Given the description of an element on the screen output the (x, y) to click on. 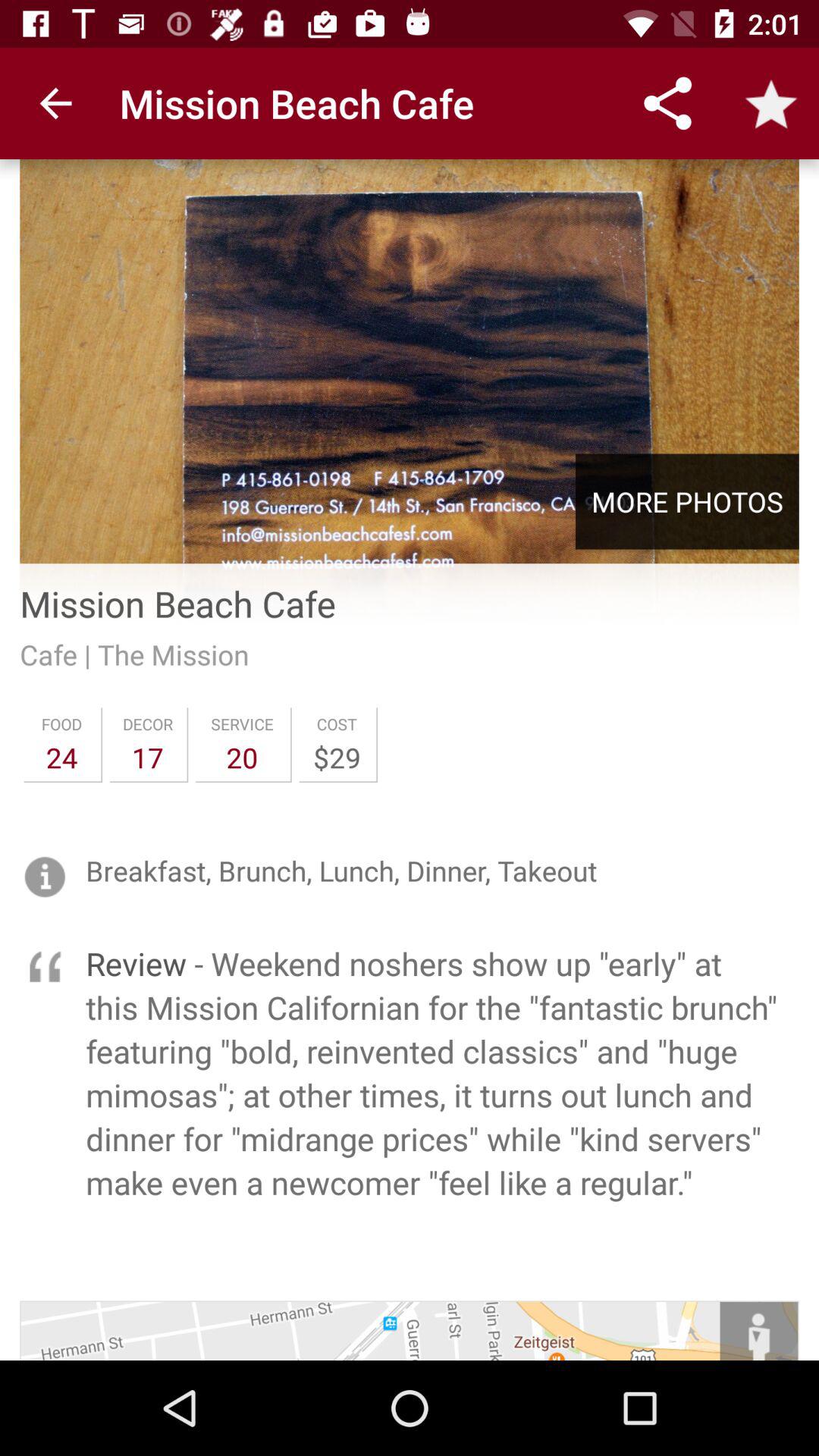
turn on the more photos icon (687, 501)
